Given the description of an element on the screen output the (x, y) to click on. 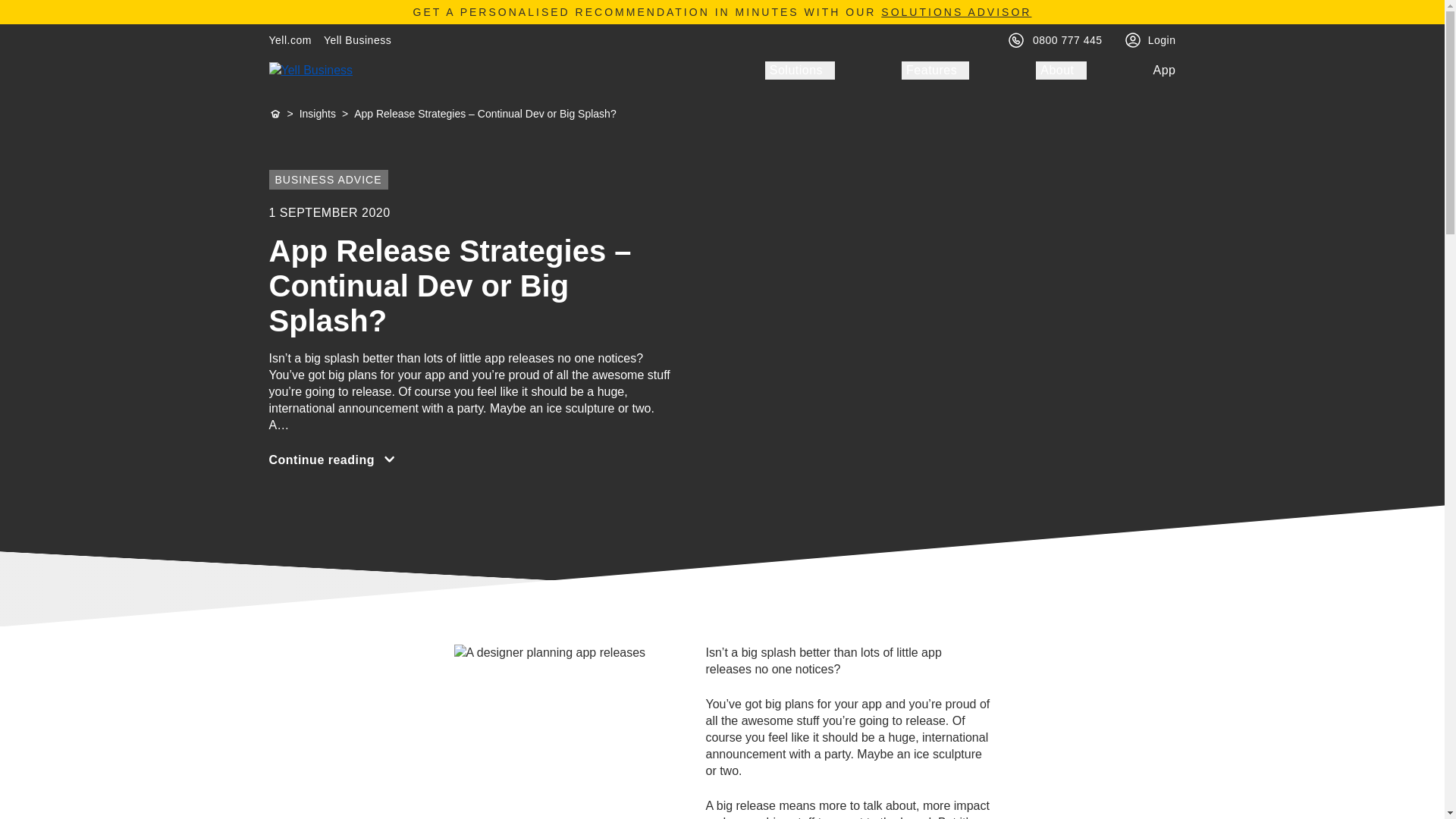
Yell.com (289, 39)
Yell Business (357, 39)
About (1060, 70)
0800 777 445 (1067, 39)
Features (935, 70)
Solutions (799, 70)
Login (1162, 39)
SOLUTIONS ADVISOR (955, 11)
